Given the description of an element on the screen output the (x, y) to click on. 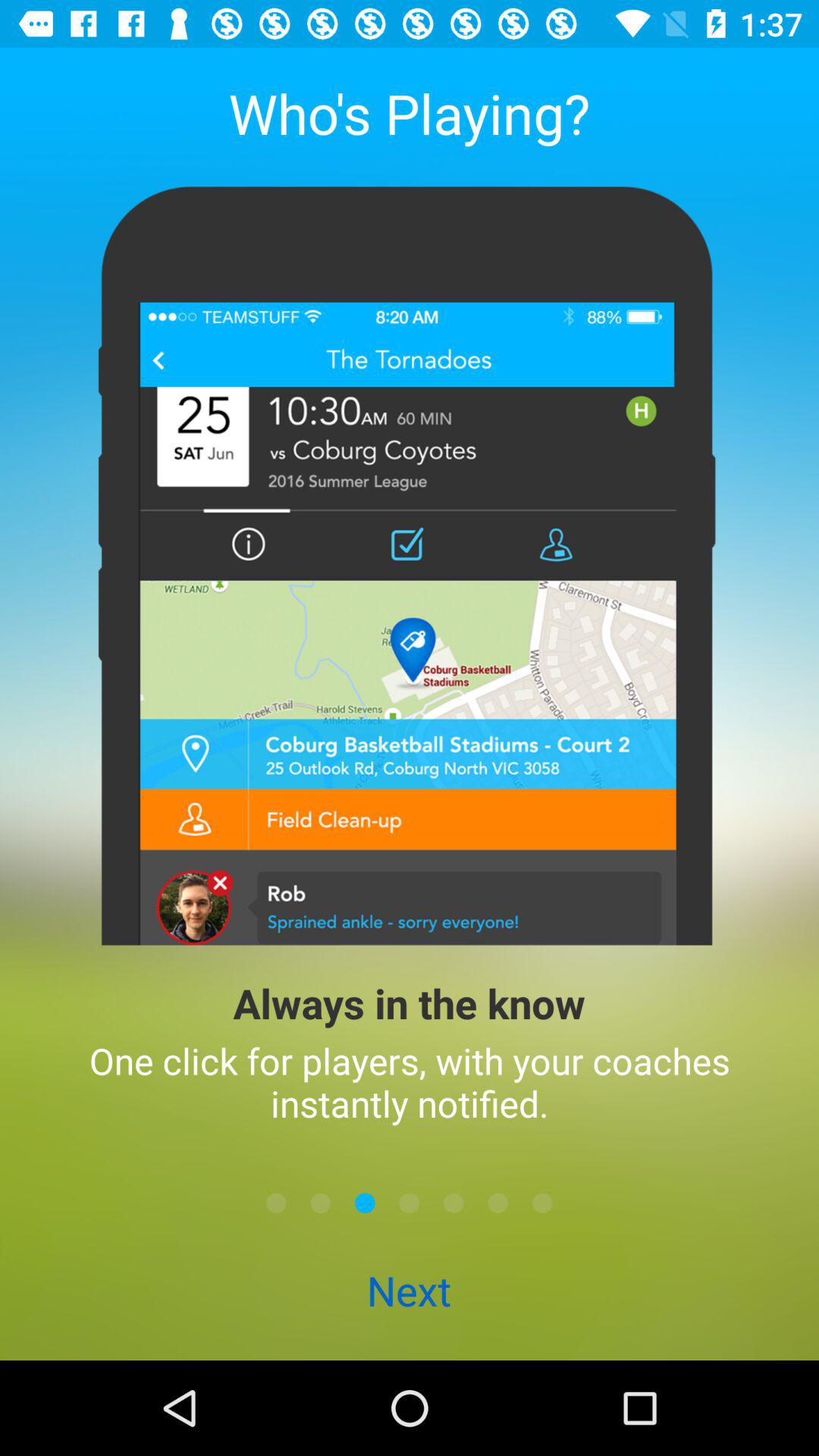
next screen (409, 1203)
